Given the description of an element on the screen output the (x, y) to click on. 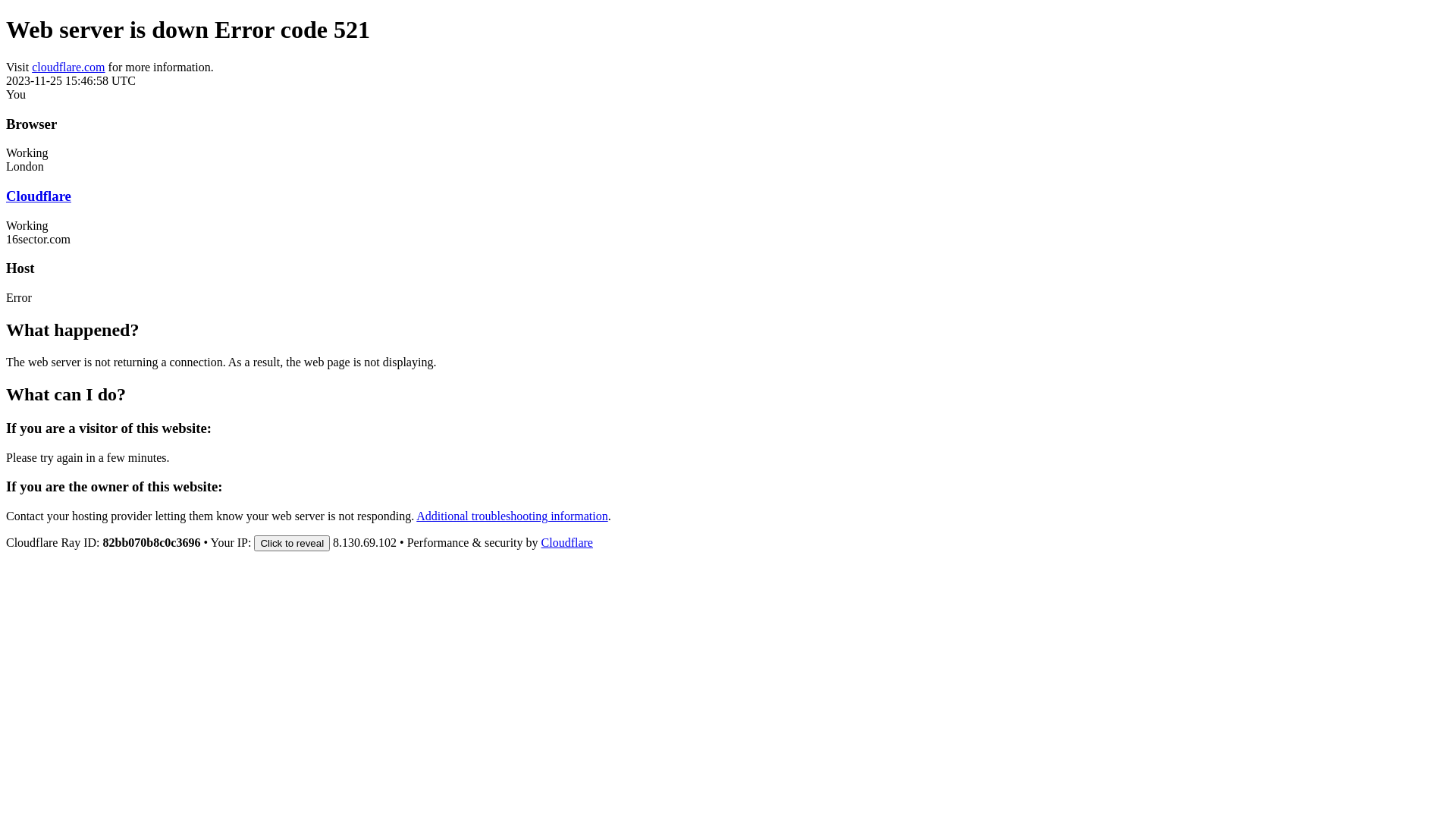
Cloudflare Element type: text (38, 195)
Additional troubleshooting information Element type: text (511, 515)
Click to reveal Element type: text (291, 543)
Cloudflare Element type: text (567, 542)
cloudflare.com Element type: text (67, 66)
